Given the description of an element on the screen output the (x, y) to click on. 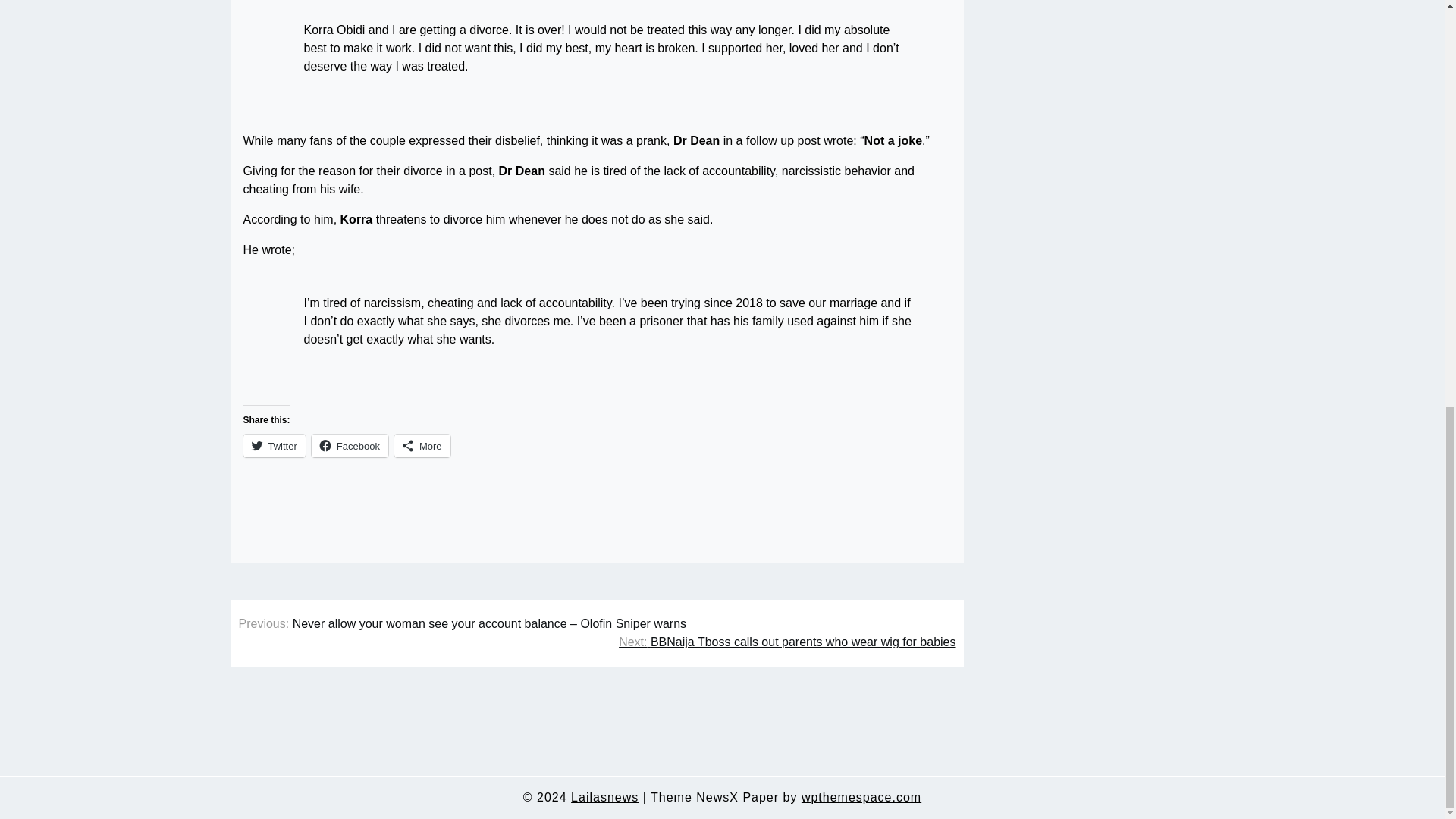
Lailasnews (604, 797)
Click to share on Facebook (349, 445)
wpthemespace.com (861, 797)
Facebook (349, 445)
Click to share on Twitter (273, 445)
More (421, 445)
Twitter (273, 445)
